Given the description of an element on the screen output the (x, y) to click on. 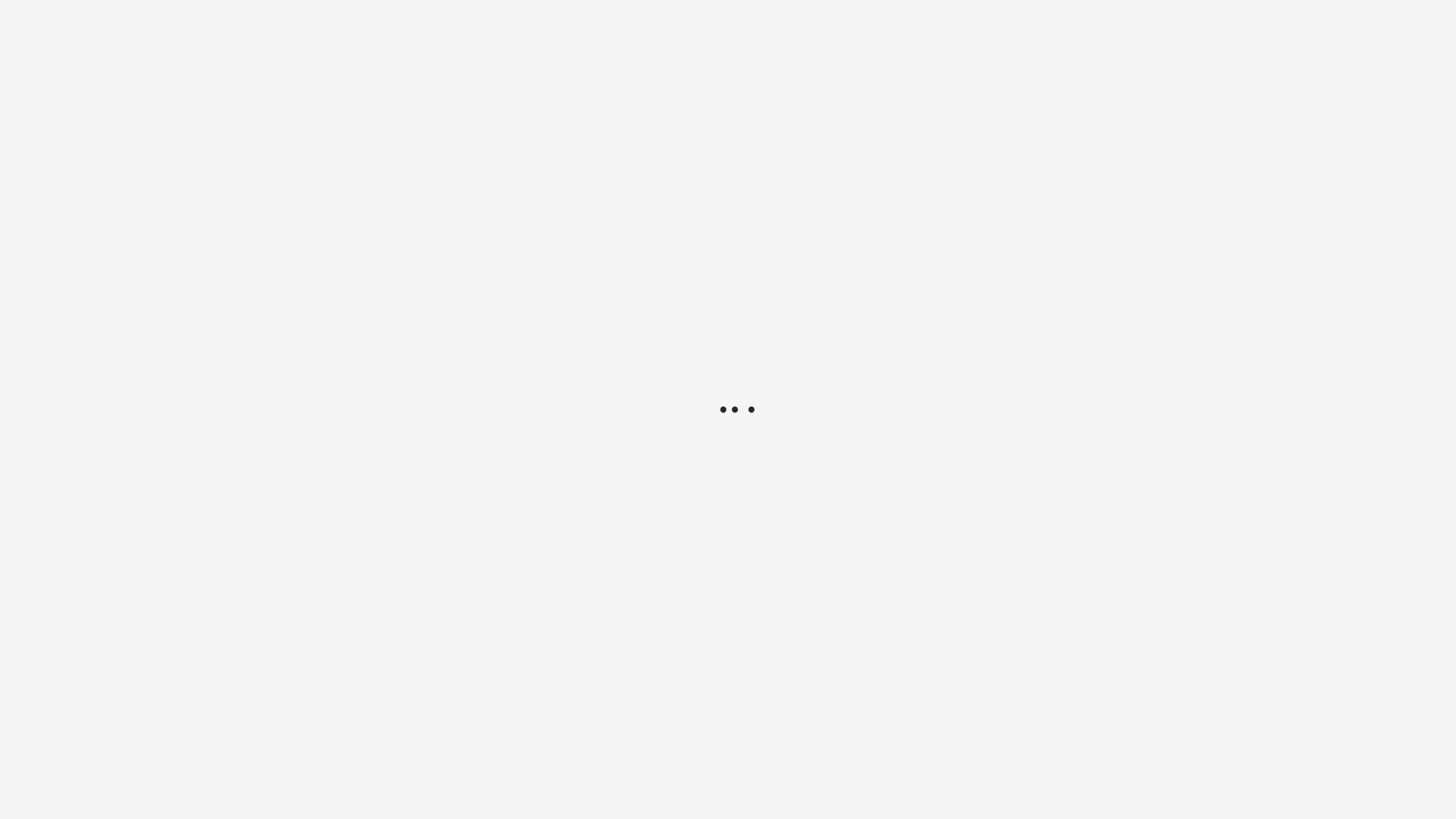
TOGO Element type: text (814, 63)
SERVICES Element type: text (671, 63)
ACCUEIL Element type: text (484, 63)
LA MISSION Element type: text (576, 63)
info@mission-togo.ch Element type: text (941, 15)
Twitter Element type: text (1000, 535)
+41 (022) 566 83 00 Element type: text (1108, 15)
INVESTIR AU TOGO Element type: text (919, 63)
BLOG Element type: text (748, 63)
Facebook Element type: text (1009, 561)
CONTACT Element type: text (1035, 63)
